Given the description of an element on the screen output the (x, y) to click on. 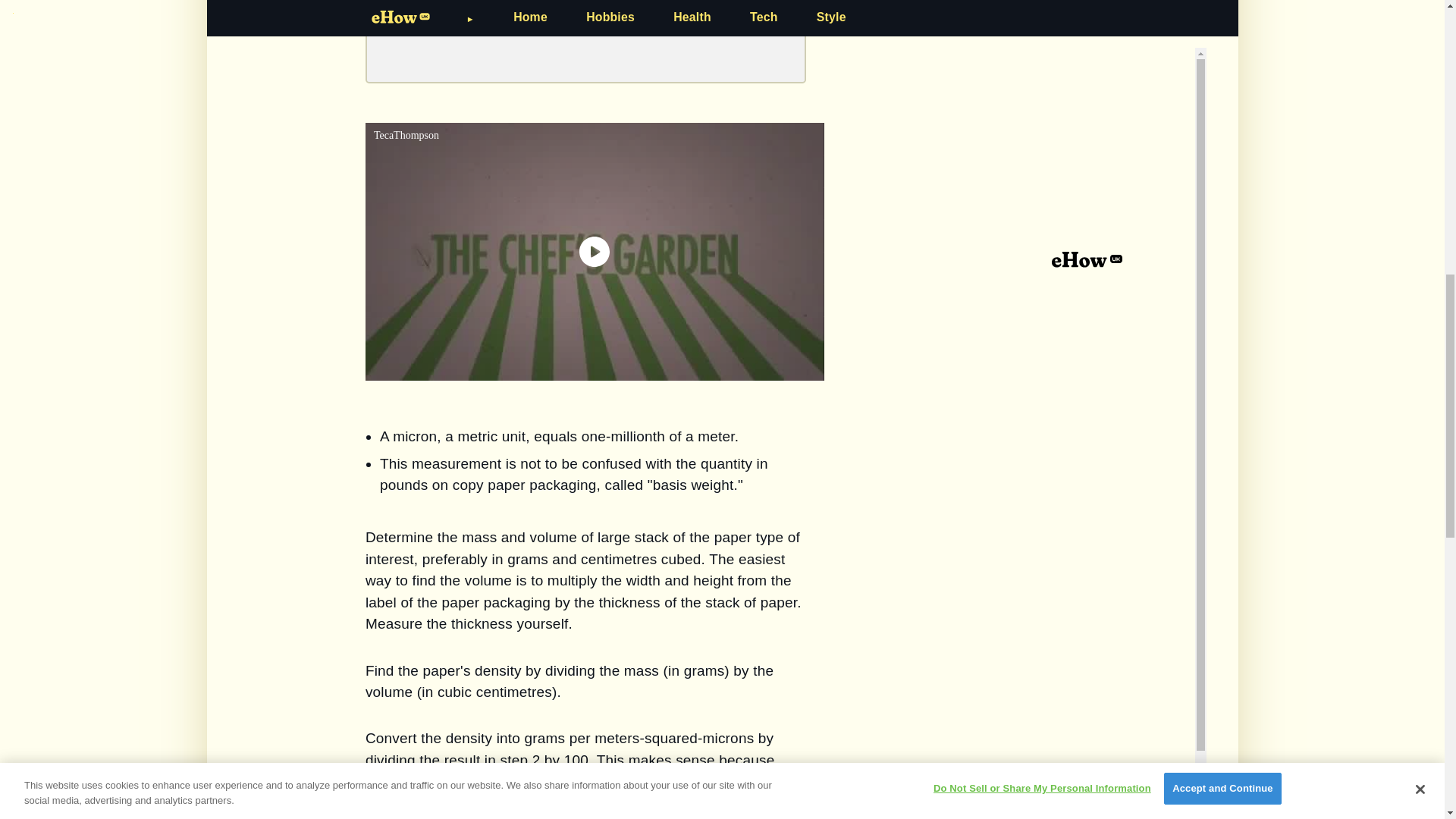
Advertisement (585, 33)
